Given the description of an element on the screen output the (x, y) to click on. 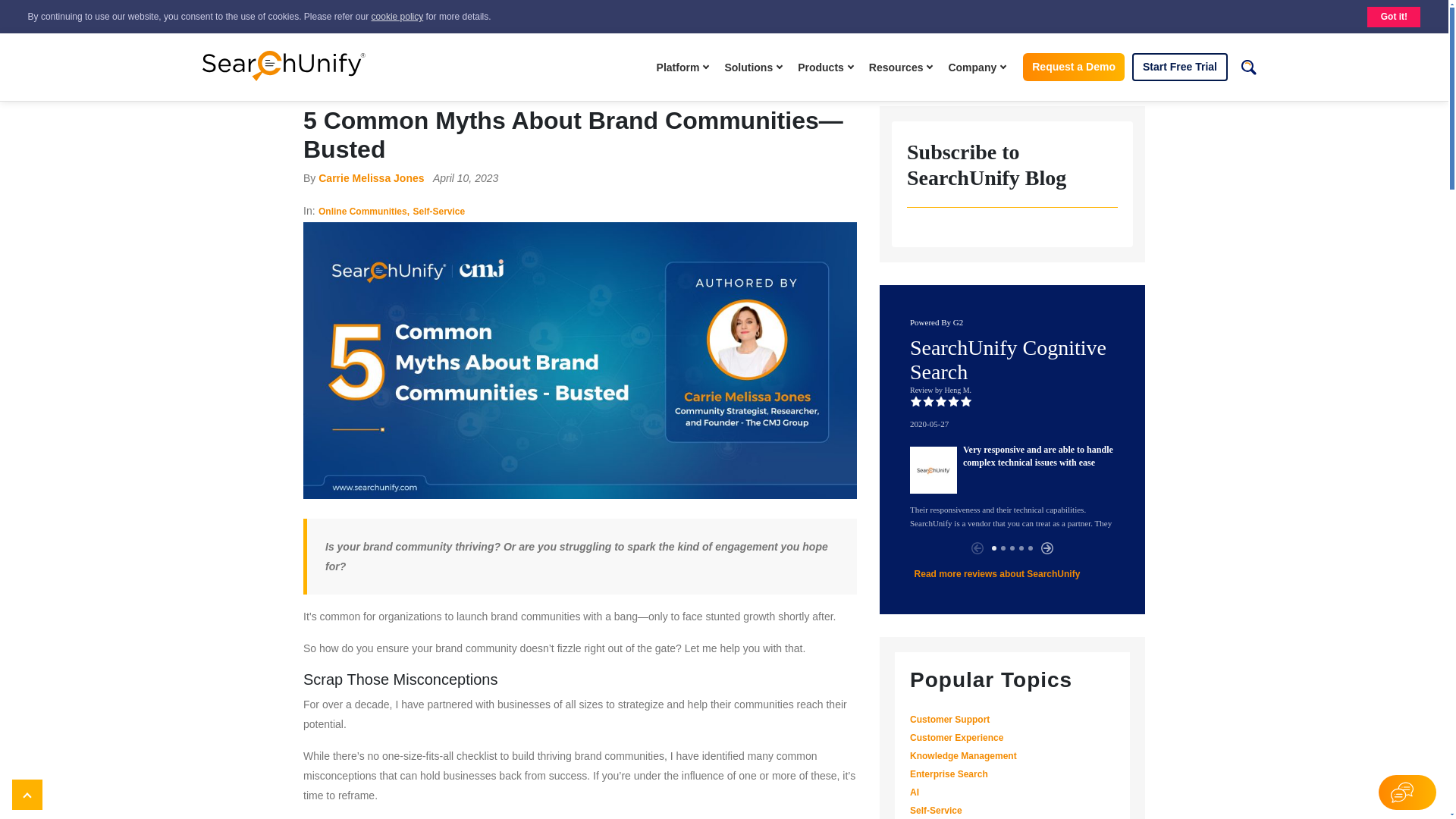
Solutions (754, 67)
Platform (684, 67)
Got it! (1394, 16)
cookie policy (397, 16)
